Given the description of an element on the screen output the (x, y) to click on. 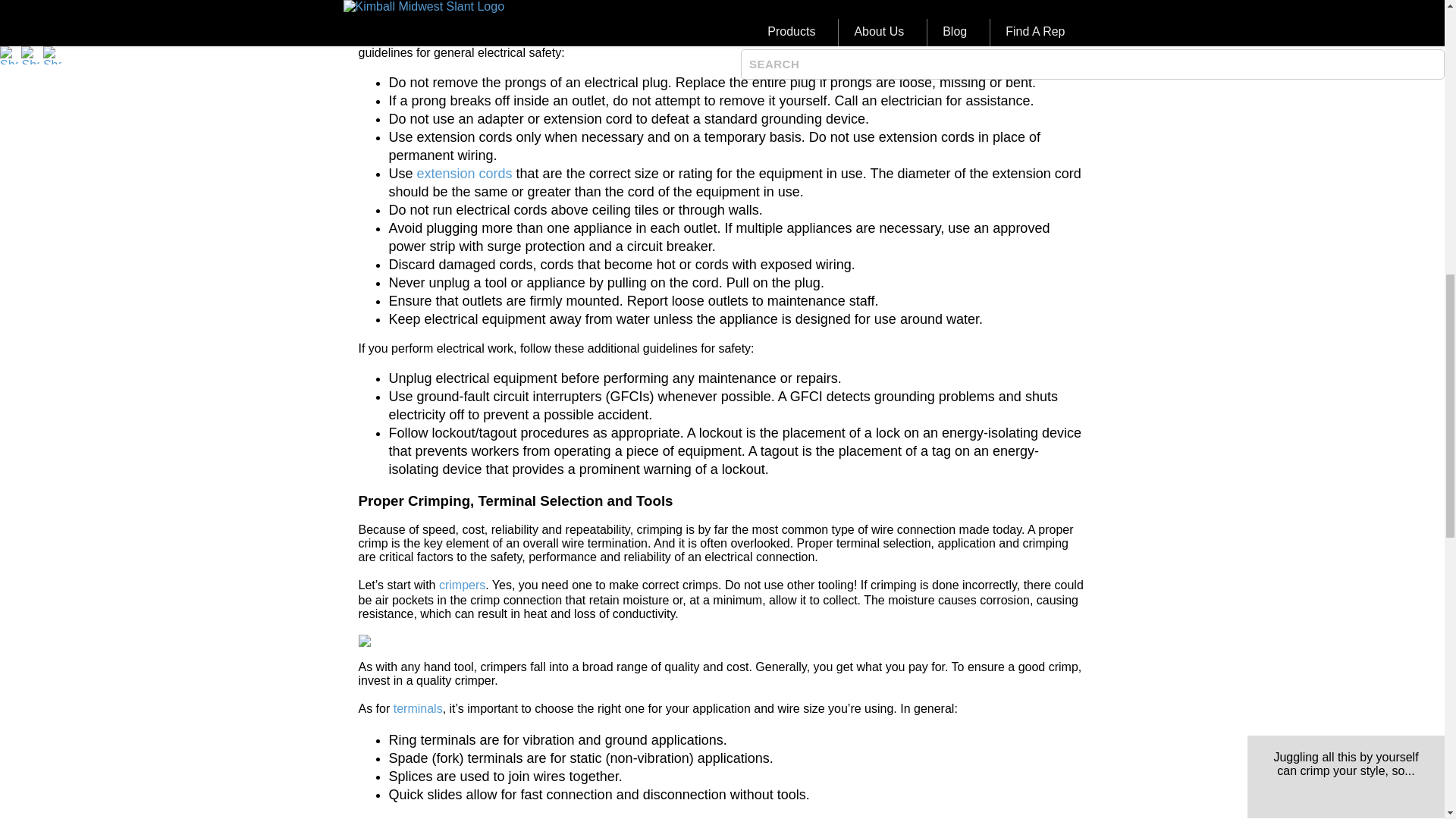
crimpers (461, 584)
terminals (417, 707)
extension cords (464, 173)
